Given the description of an element on the screen output the (x, y) to click on. 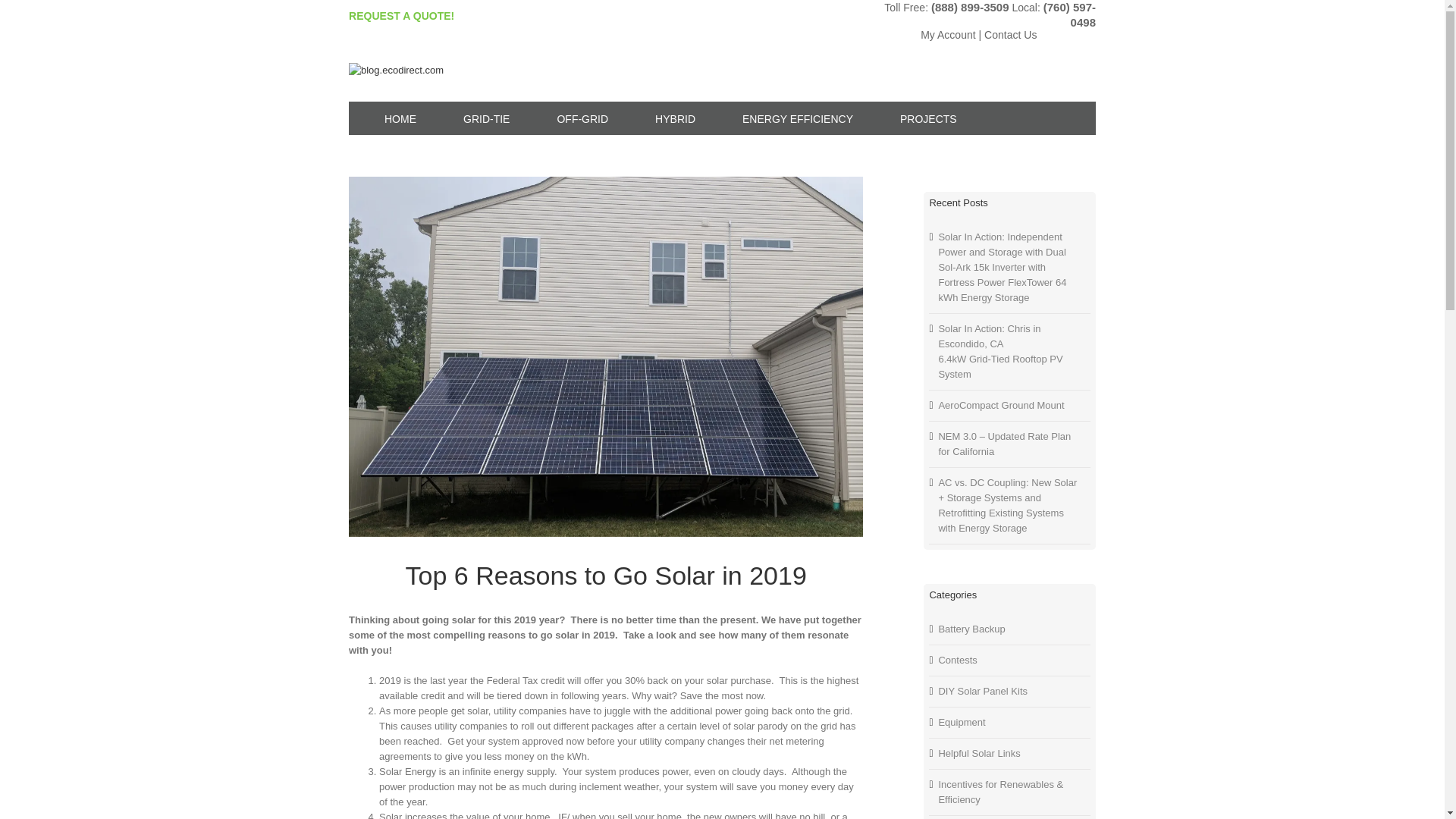
Contact Us (1010, 34)
HYBRID (668, 117)
HOME (393, 117)
My Account (947, 34)
Request a Quote (401, 15)
REQUEST A QUOTE! (401, 15)
My Account (947, 34)
GRID-TIE (479, 117)
Contact Us (1010, 34)
OFF-GRID (575, 117)
